Given the description of an element on the screen output the (x, y) to click on. 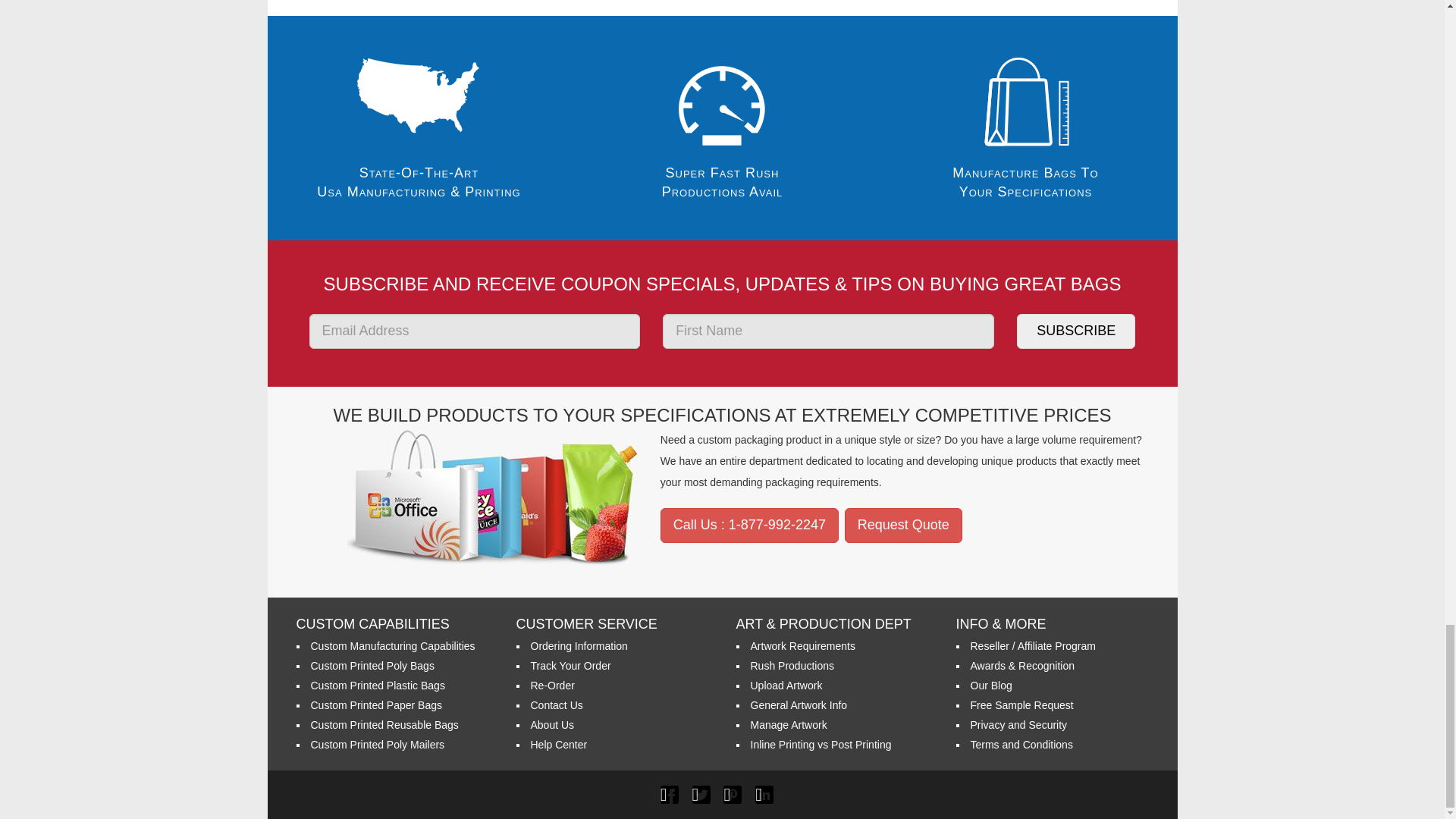
Subscribe (1075, 330)
